Given the description of an element on the screen output the (x, y) to click on. 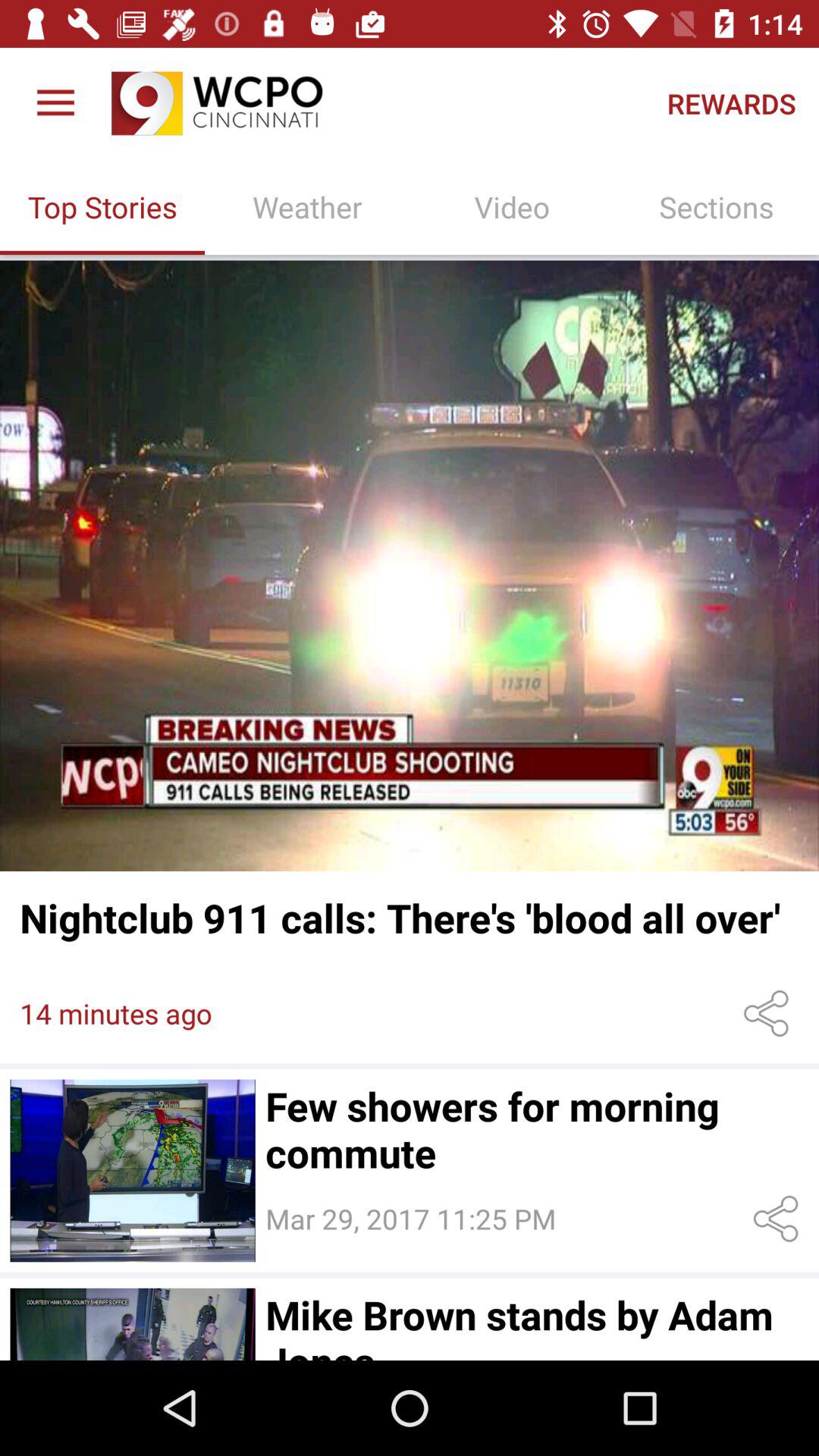
share this (778, 1218)
